Given the description of an element on the screen output the (x, y) to click on. 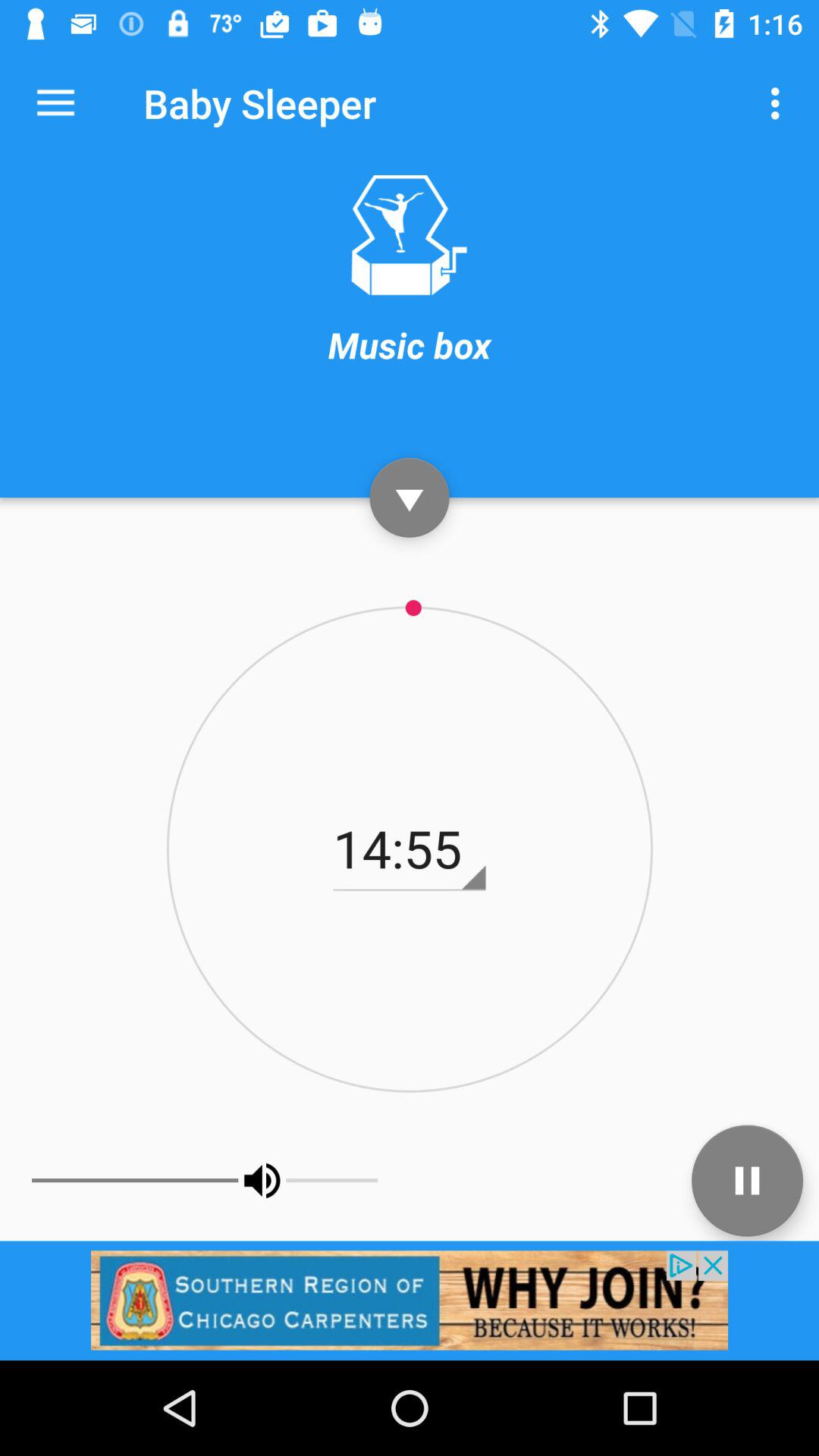
play (409, 497)
